Given the description of an element on the screen output the (x, y) to click on. 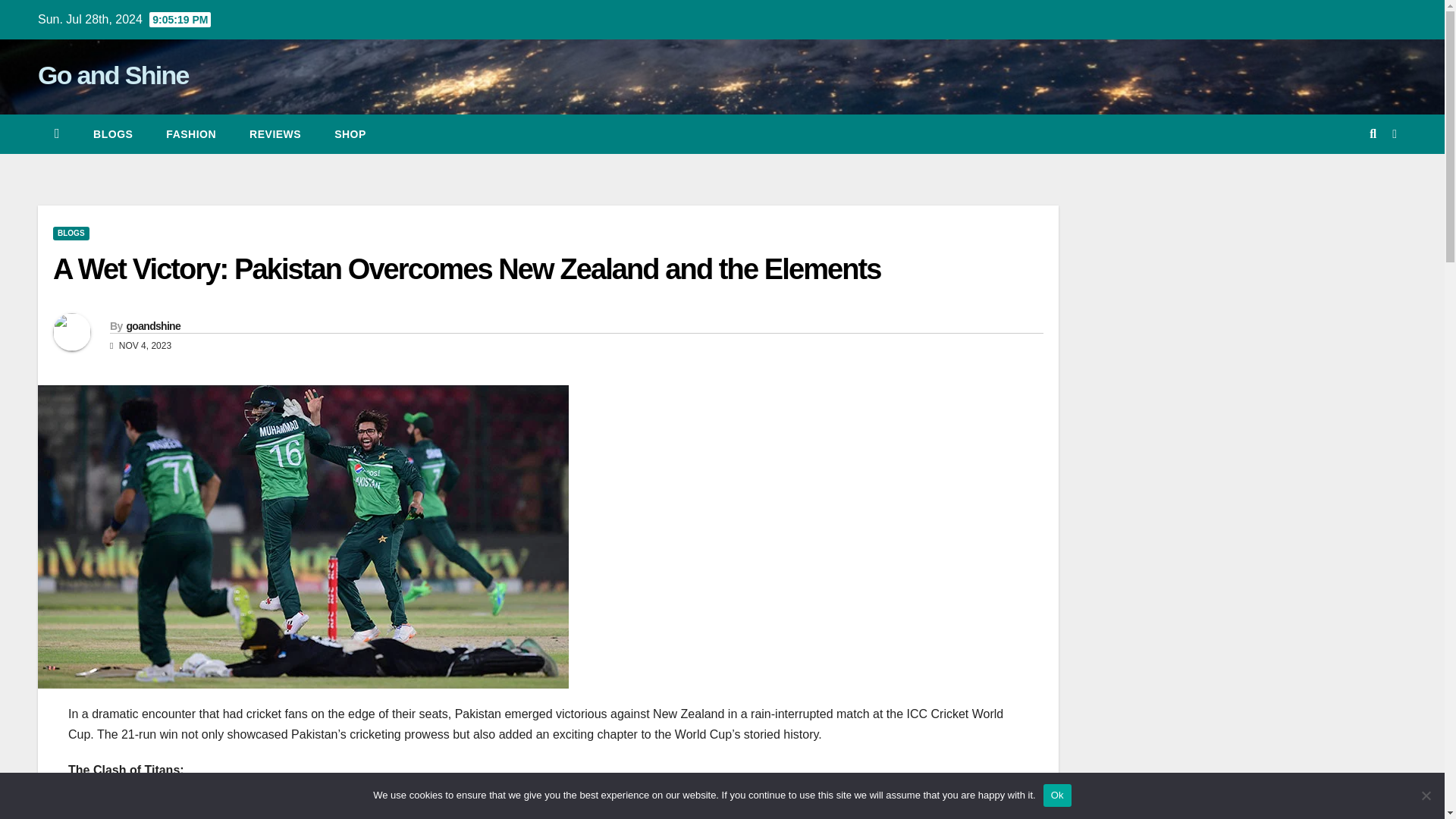
Go and Shine (113, 74)
Shop (349, 133)
BLOGS (113, 133)
FASHION (190, 133)
goandshine (152, 326)
Blogs (113, 133)
Fashion (190, 133)
REVIEWS (274, 133)
SHOP (349, 133)
No (1425, 795)
Reviews (274, 133)
BLOGS (70, 233)
